Given the description of an element on the screen output the (x, y) to click on. 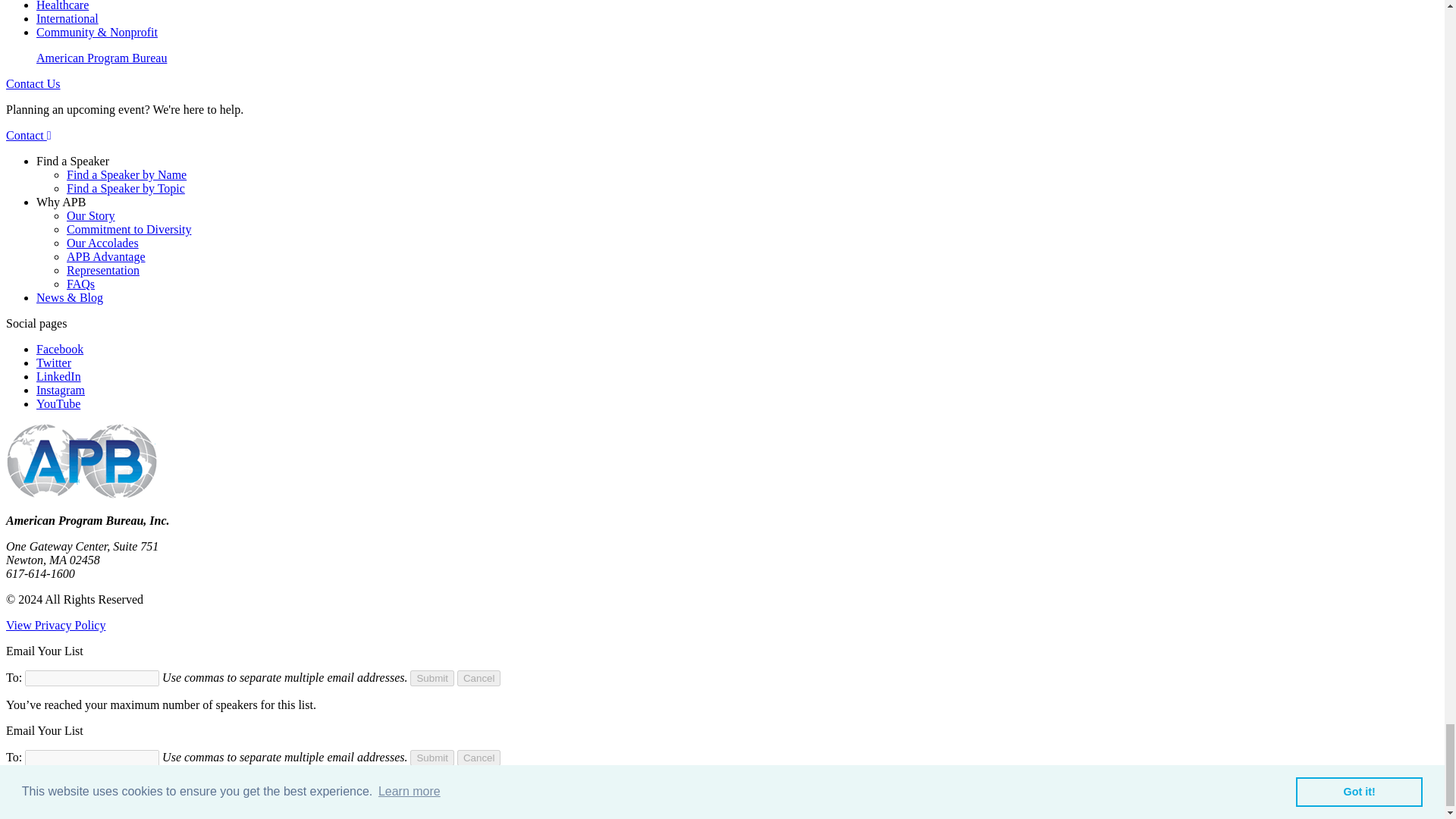
Cancel (478, 678)
Submit (431, 678)
Cancel (478, 757)
Submit (431, 757)
Privacy Policy (54, 625)
